Given the description of an element on the screen output the (x, y) to click on. 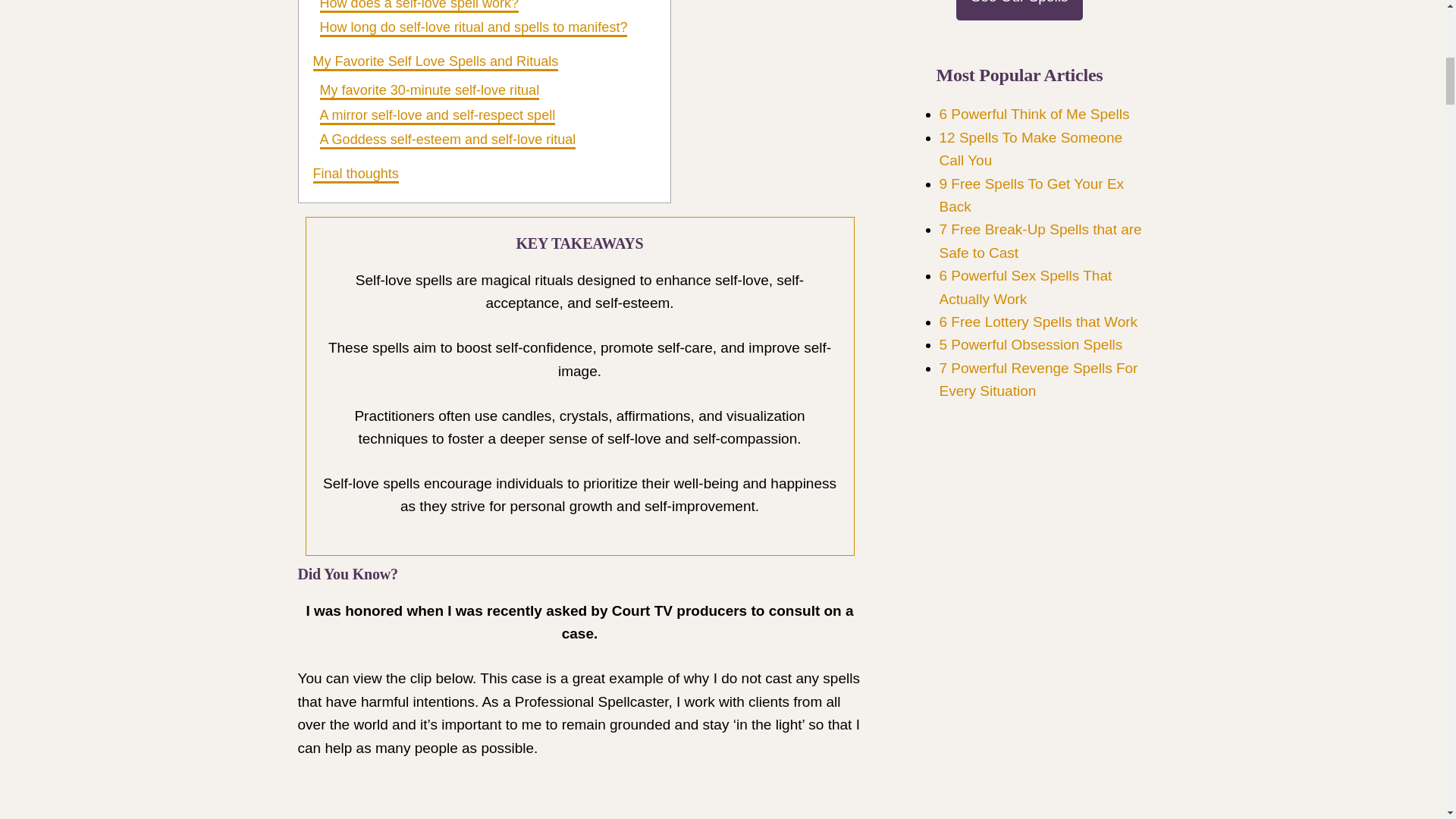
YouTube video player (509, 800)
